Given the description of an element on the screen output the (x, y) to click on. 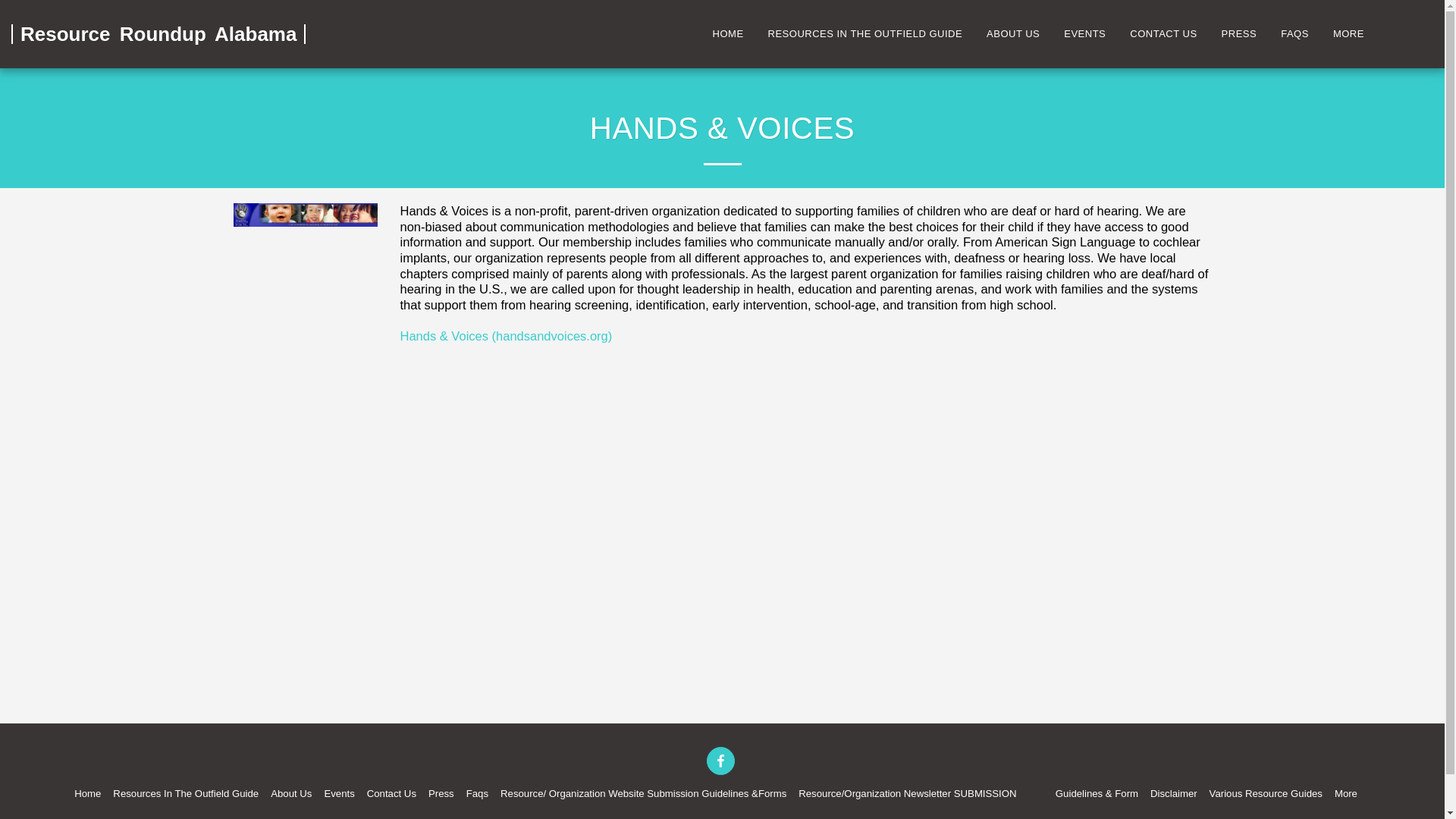
FAQS (1294, 34)
PRESS (1238, 34)
MORE   (1355, 34)
RESOURCES IN THE OUTFIELD GUIDE (865, 34)
EVENTS (1084, 34)
HOME (728, 34)
ABOUT US (1013, 34)
CONTACT US (1163, 34)
Resource Roundup Alabama (158, 33)
